Given the description of an element on the screen output the (x, y) to click on. 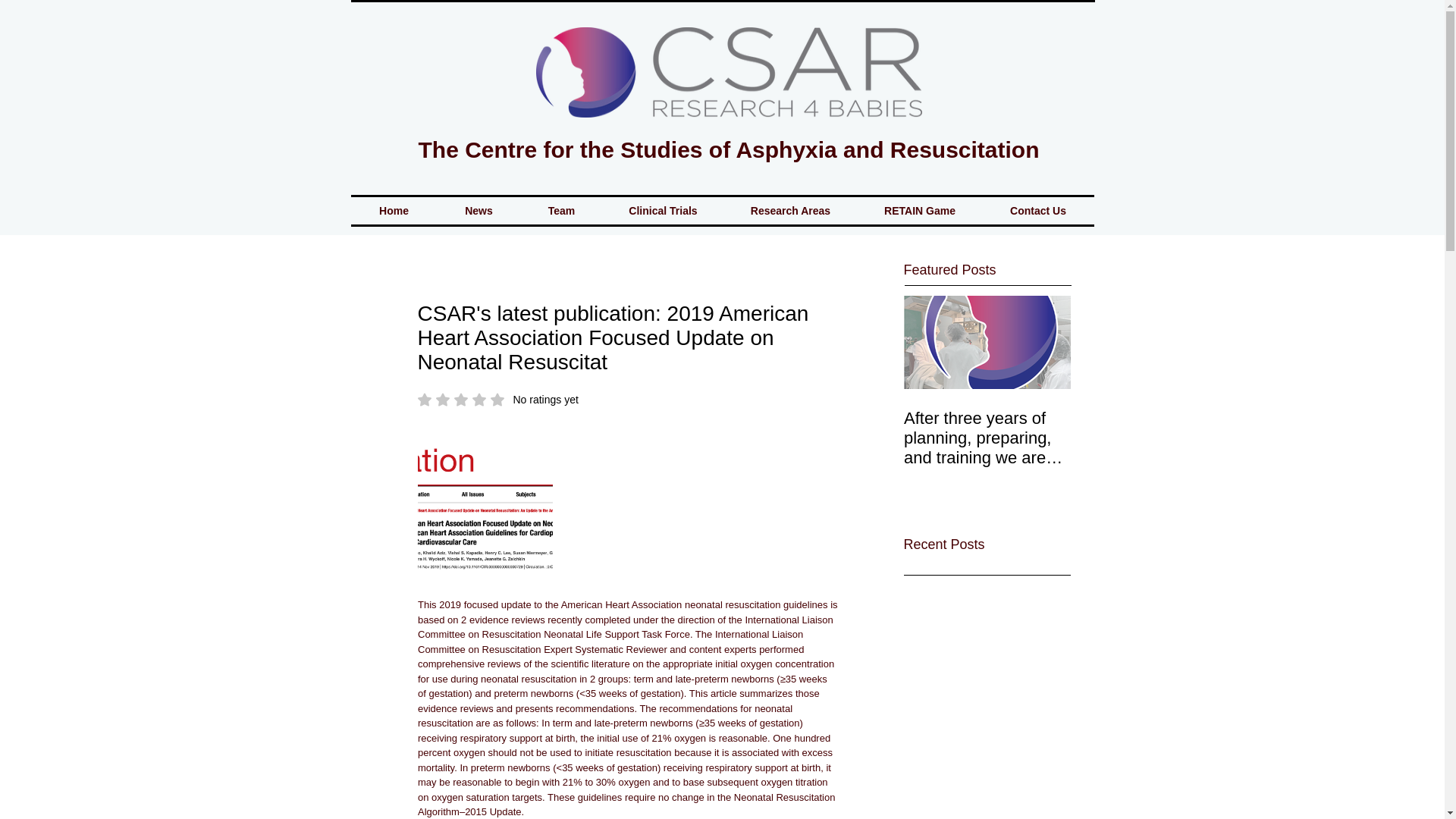
Team (560, 210)
The Centre for the Studies of Asphyxia and Resuscitation (728, 149)
Research Areas (497, 399)
RETAIN Game (790, 210)
Contact Us (919, 210)
Home (1038, 210)
Clinical Trials (393, 210)
News (662, 210)
